Given the description of an element on the screen output the (x, y) to click on. 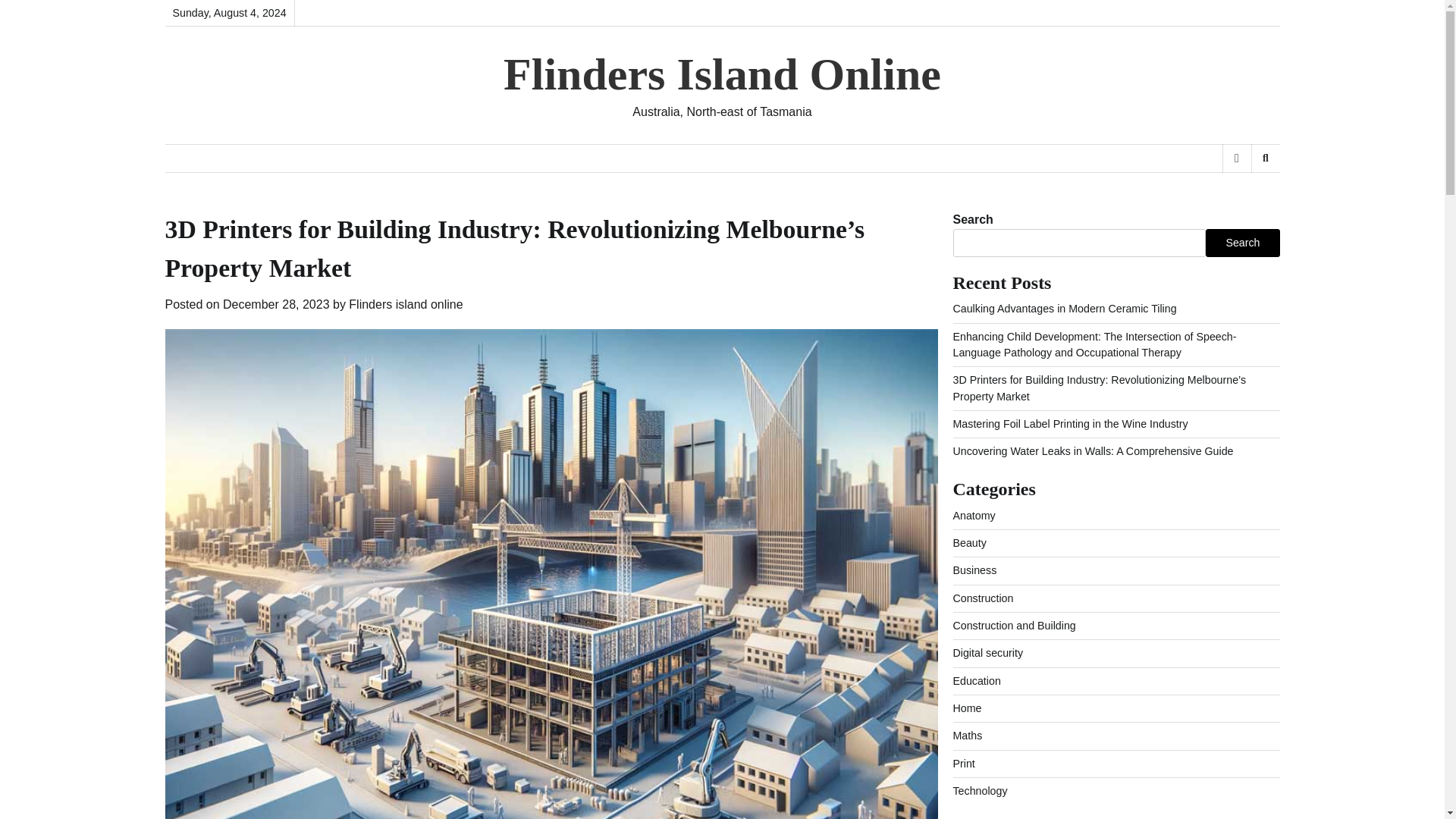
Uncovering Water Leaks in Walls: A Comprehensive Guide (1092, 451)
Search (1240, 197)
Mastering Foil Label Printing in the Wine Industry (1070, 423)
Anatomy (973, 515)
Caulking Advantages in Modern Ceramic Tiling (1064, 308)
Search (1264, 158)
View Random Post (1236, 158)
Search (1242, 242)
Flinders island online (406, 304)
Flinders Island Online (721, 74)
December 28, 2023 (276, 304)
